Given the description of an element on the screen output the (x, y) to click on. 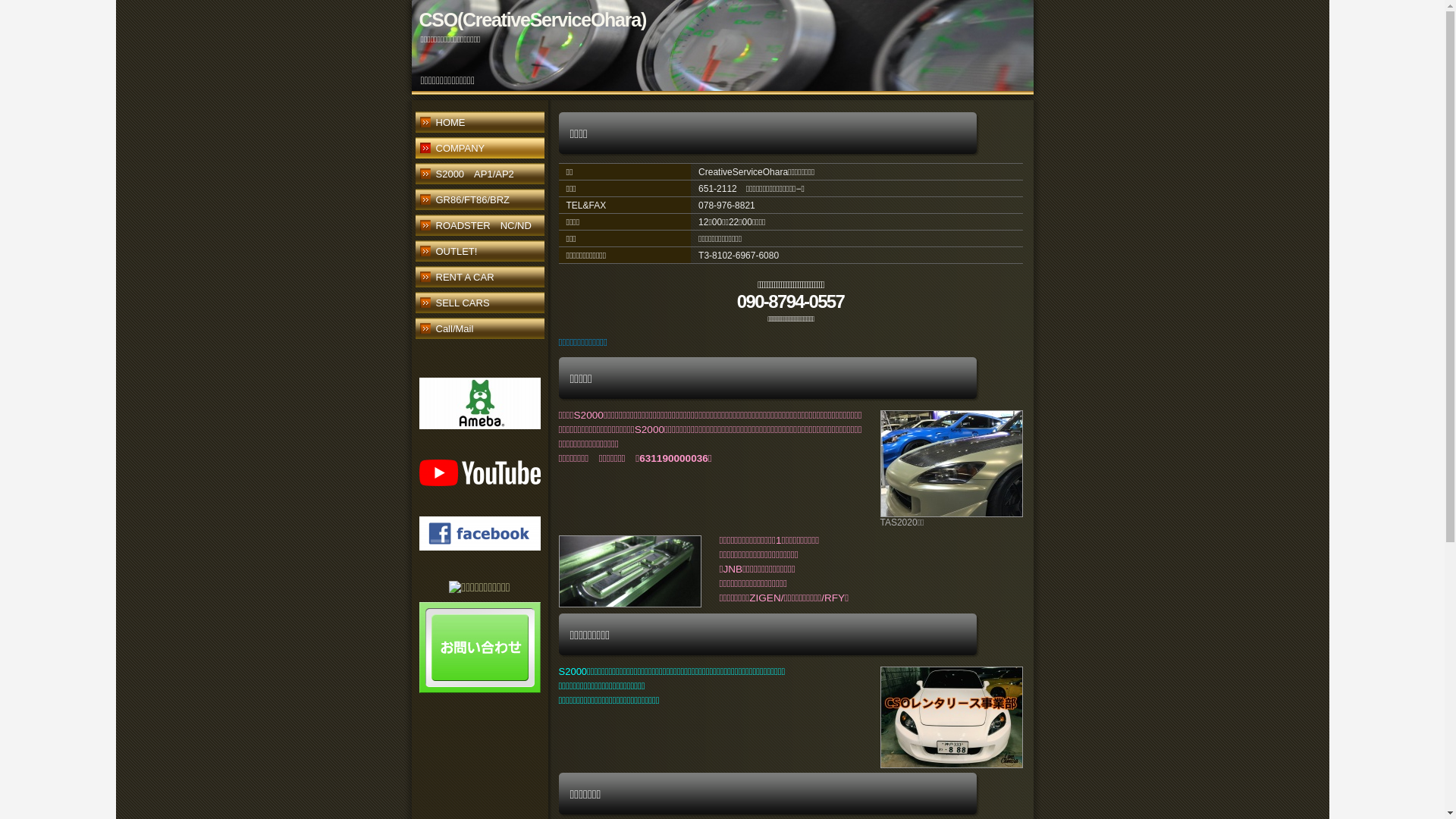
SELL CARS Element type: text (479, 304)
OUTLET! Element type: text (479, 253)
HOME Element type: text (479, 124)
GR86/FT86/BRZ Element type: text (479, 201)
COMPANY Element type: text (479, 150)
RENT A CAR Element type: text (479, 278)
Call/Mail Element type: text (479, 330)
